Given the description of an element on the screen output the (x, y) to click on. 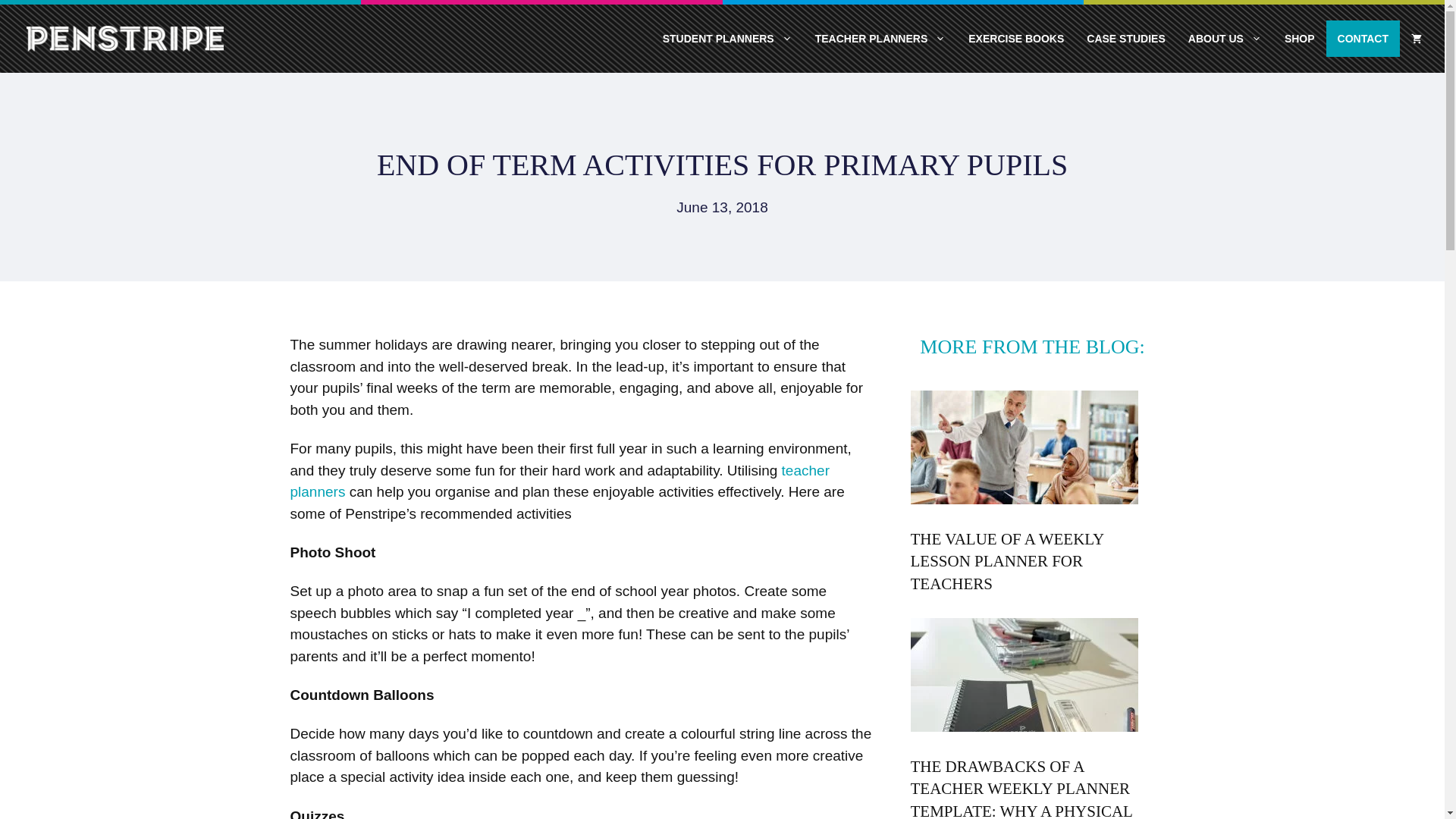
CASE STUDIES (1125, 38)
EXERCISE BOOKS (1015, 38)
SHOP (1299, 38)
TEACHER PLANNERS (880, 38)
CONTACT (1362, 38)
STUDENT PLANNERS (726, 38)
teacher planners (558, 481)
ABOUT US (1224, 38)
